Given the description of an element on the screen output the (x, y) to click on. 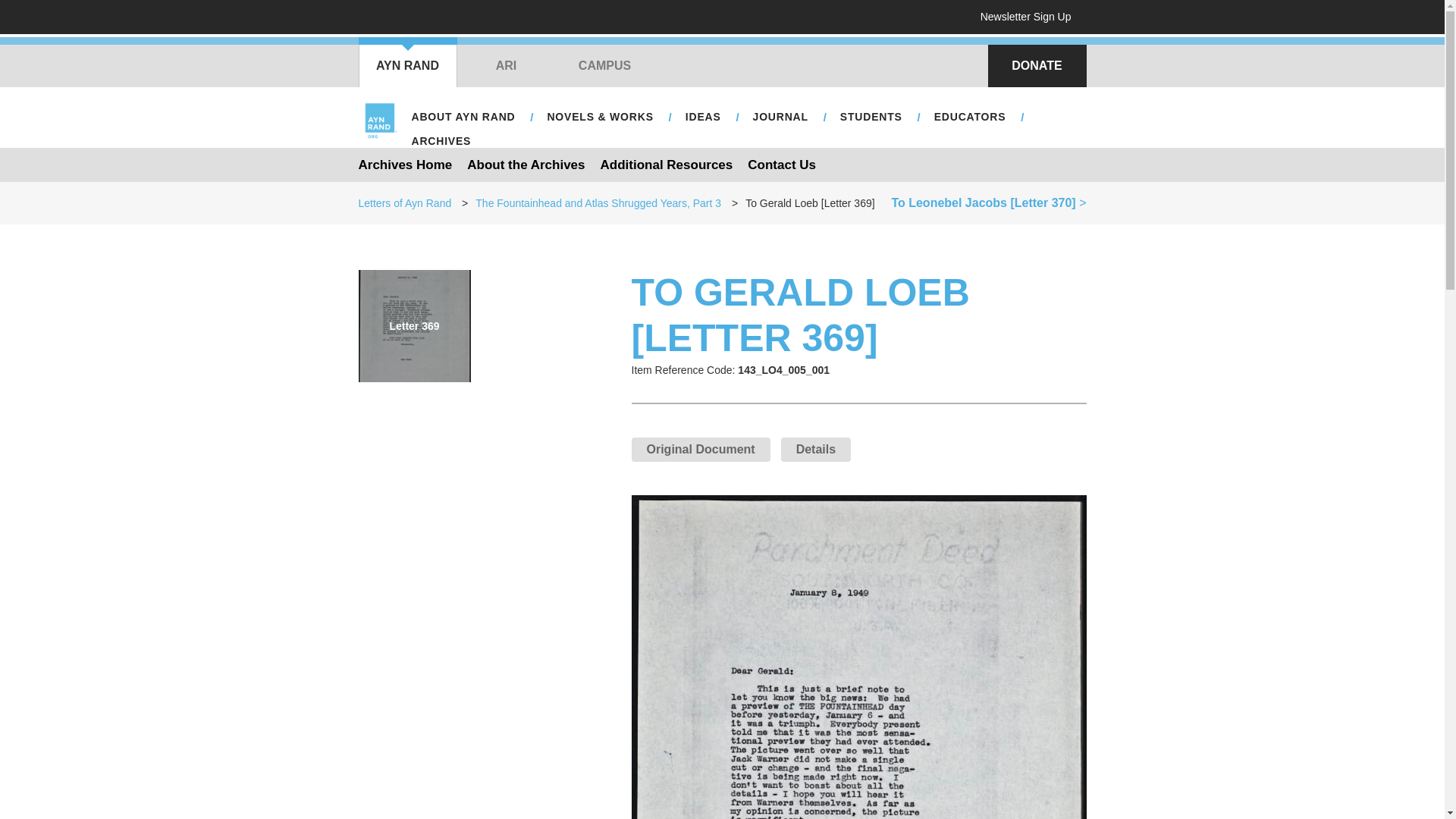
Newsletter Sign Up (1031, 16)
CAMPUS (603, 65)
Letter 369 (414, 326)
ARI (505, 65)
IDEAS (703, 116)
Letters of Ayn Rand (404, 203)
EDUCATORS (969, 116)
ARCHIVES (441, 140)
DONATE (1036, 65)
Contact Us (781, 164)
Additional Resources (666, 164)
JOURNAL (780, 116)
ABOUT AYN RAND (462, 116)
AYN RAND (407, 65)
The Fountainhead and Atlas Shrugged Years, Part 3 (598, 203)
